Given the description of an element on the screen output the (x, y) to click on. 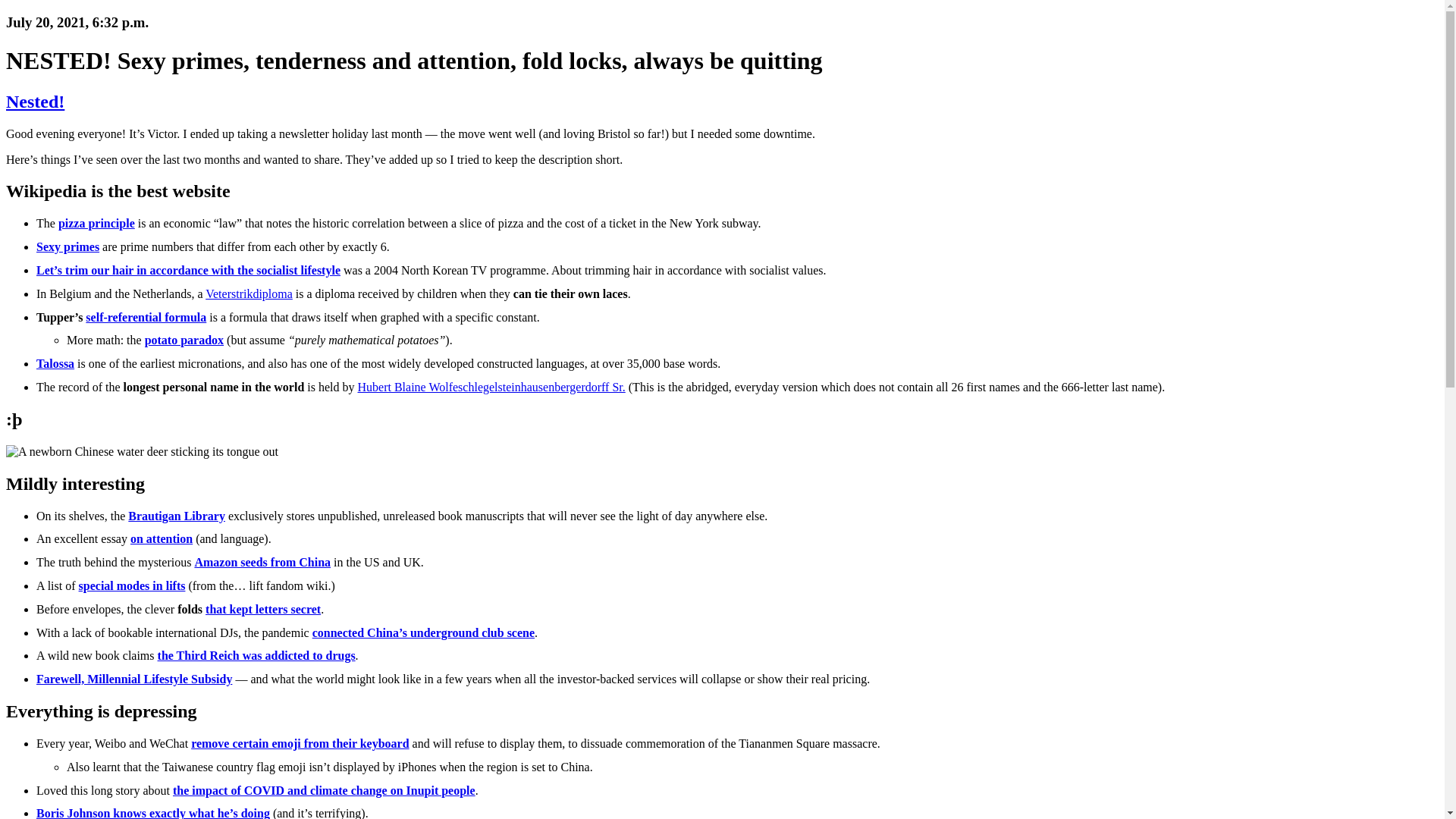
on attention (161, 538)
Sexy primes (67, 246)
Amazon seeds from China (261, 562)
potato paradox (184, 339)
remove certain emoji from their keyboard (299, 743)
the Third Reich was addicted to drugs (256, 655)
the impact of COVID and climate change on Inupit people (324, 789)
special modes in lifts (132, 585)
Veterstrikdiploma (248, 293)
pizza principle (96, 223)
Farewell, Millennial Lifestyle Subsidy (133, 678)
that kept letters secret (262, 608)
Brautigan Library (176, 515)
self-referential formula (145, 317)
Talossa (55, 363)
